Given the description of an element on the screen output the (x, y) to click on. 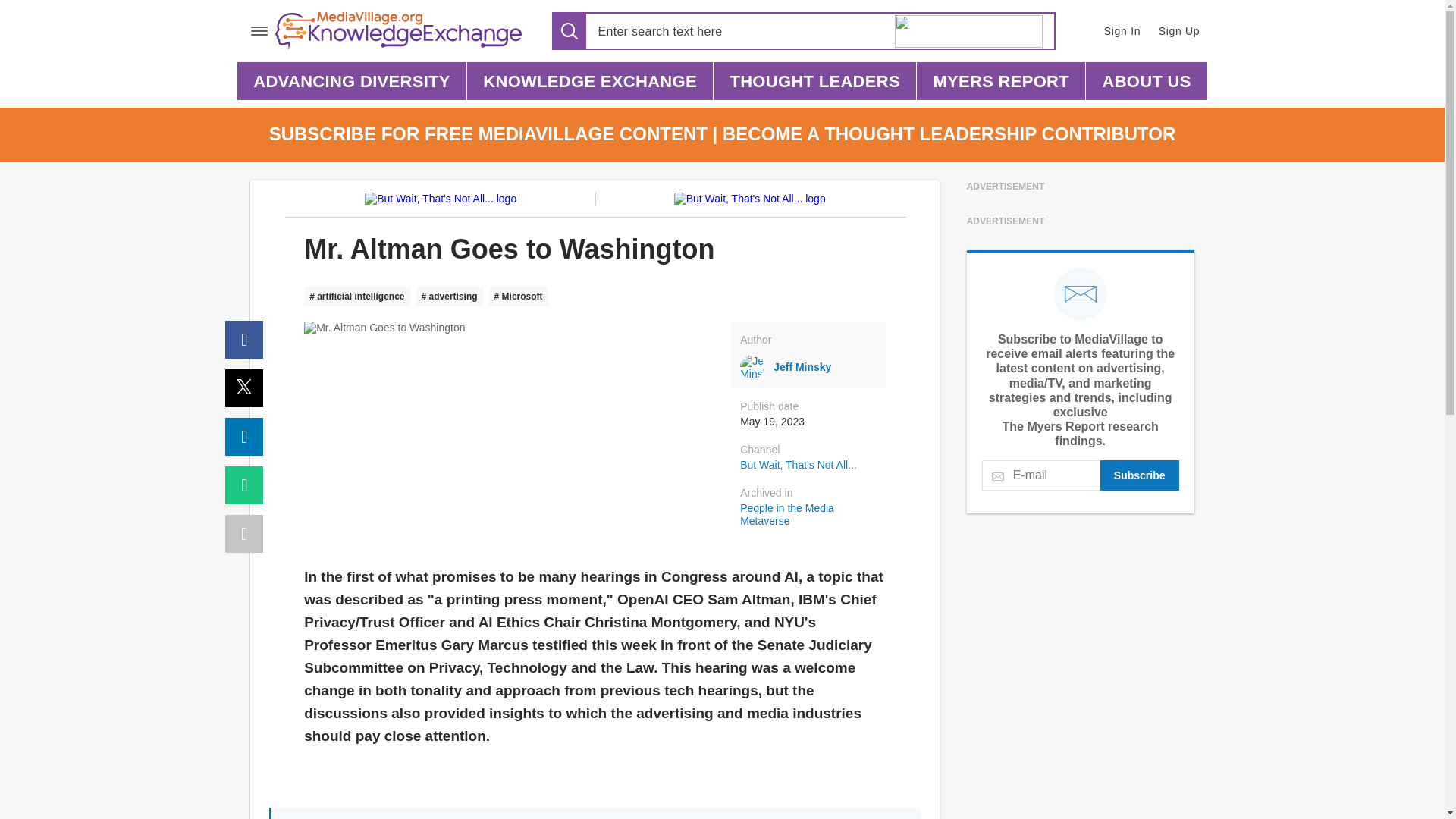
MYERS REPORT (1000, 80)
Facebook (244, 339)
Jeff Minsky (807, 366)
THOUGHT LEADERS (814, 80)
Print (244, 533)
ABOUT US (1146, 80)
Sign In (1121, 30)
People in the Media Metaverse (812, 514)
Sign Up (1179, 30)
Twitter (244, 388)
ADVANCING DIVERSITY (351, 80)
But Wait, That's Not All... (798, 464)
KNOWLEDGE EXCHANGE (590, 80)
LinkedIn (244, 436)
Email (244, 485)
